Given the description of an element on the screen output the (x, y) to click on. 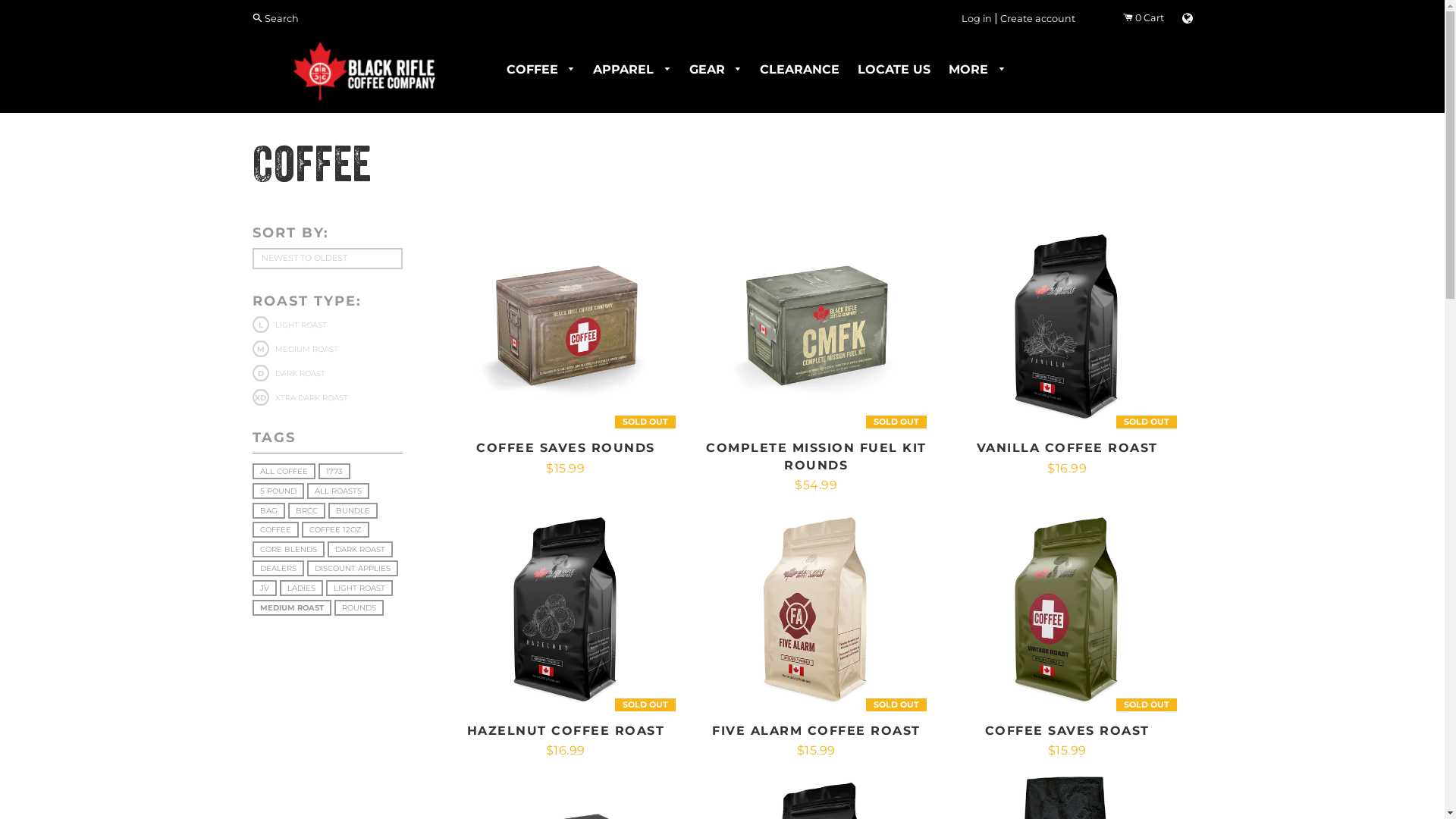
MORE Element type: text (977, 69)
HAZELNUT COFFEE ROAST Element type: text (566, 730)
5 POUND Element type: text (277, 490)
Create account Element type: text (1036, 17)
SHOP Element type: text (816, 600)
COFFEE SAVES ROAST Element type: text (1067, 730)
APPAREL Element type: text (631, 69)
COFFEE SAVES ROUNDS Element type: text (565, 447)
SOLD OUT Element type: text (1067, 608)
COFFEE Element type: text (540, 69)
COMPLETE MISSION FUEL KIT ROUNDS Element type: text (816, 455)
BRCC Element type: text (306, 510)
SOLD OUT Element type: text (1067, 325)
Search Element type: text (274, 17)
GEAR Element type: text (714, 69)
SHOP Element type: text (1067, 600)
JV Element type: text (263, 588)
M MEDIUM ROAST Element type: text (294, 349)
SHOP Element type: text (565, 318)
ALL ROASTS Element type: text (337, 490)
FIVE ALARM COFFEE ROAST Element type: text (816, 730)
CLEARANCE Element type: text (799, 69)
ALL COFFEE Element type: text (282, 471)
SOLD OUT Element type: text (816, 325)
LIGHT ROAST Element type: text (359, 588)
DARK ROAST Element type: text (359, 549)
MEDIUM ROAST Element type: text (290, 607)
DISCOUNT APPLIES Element type: text (351, 568)
L LIGHT ROAST Element type: text (288, 324)
SOLD OUT Element type: text (565, 608)
COFFEE 12OZ Element type: text (335, 529)
SOLD OUT Element type: text (816, 608)
0 Cart Element type: text (1142, 18)
LOCATE US Element type: text (894, 69)
SOLD OUT Element type: text (565, 325)
D DARK ROAST Element type: text (287, 373)
XD XTRA DARK ROAST Element type: text (299, 397)
SHOP Element type: text (565, 600)
BUNDLE Element type: text (351, 510)
DEALERS Element type: text (277, 568)
SHOP Element type: text (1067, 318)
BAG Element type: text (267, 510)
VANILLA COFFEE ROAST Element type: text (1066, 447)
CORE BLENDS Element type: text (287, 549)
Log in Element type: text (976, 17)
LADIES Element type: text (300, 588)
SHOP Element type: text (816, 323)
COFFEE Element type: text (274, 529)
ROUNDS Element type: text (357, 607)
1773 Element type: text (334, 471)
